Given the description of an element on the screen output the (x, y) to click on. 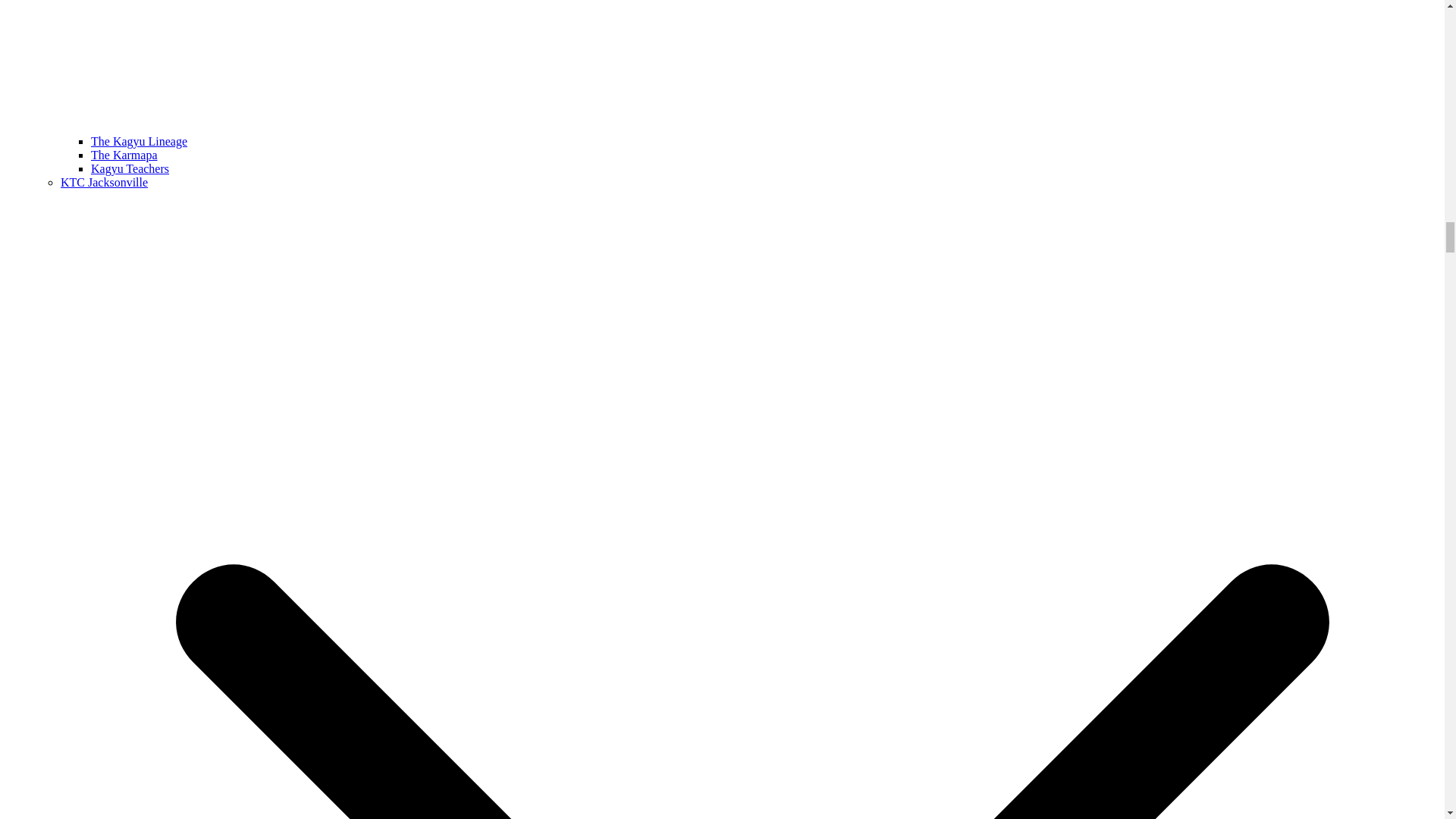
Kagyu Teachers (129, 168)
The Karmapa (123, 154)
The Kagyu Lineage (138, 141)
